Given the description of an element on the screen output the (x, y) to click on. 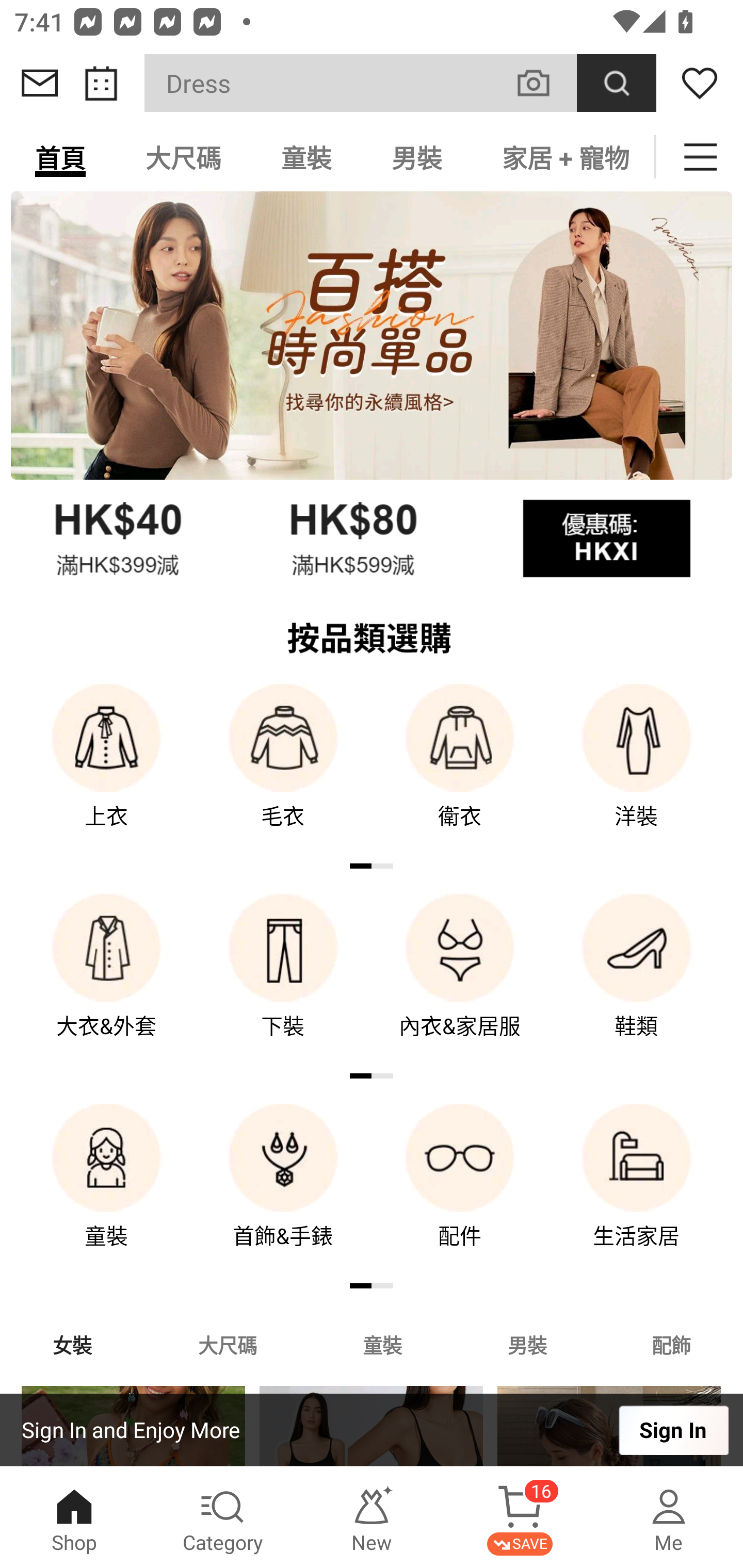
Wishlist (699, 82)
VISUAL SEARCH (543, 82)
首頁 (60, 156)
大尺碼 (183, 156)
童裝 (306, 156)
男裝 (416, 156)
家居 + 寵物 (563, 156)
上衣 (105, 769)
毛衣 (282, 769)
衛衣 (459, 769)
洋裝 (636, 769)
大衣&外套 (105, 979)
下裝 (282, 979)
內衣&家居服 (459, 979)
鞋類 (636, 979)
童裝 (105, 1189)
首飾&手錶 (282, 1189)
配件 (459, 1189)
生活家居 (636, 1189)
女裝 (72, 1344)
大尺碼 (226, 1344)
童裝 (381, 1344)
男裝 (527, 1344)
配飾 (671, 1344)
Sign In and Enjoy More Sign In (371, 1429)
Category (222, 1517)
New (371, 1517)
Cart 16 SAVE (519, 1517)
Me (668, 1517)
